Given the description of an element on the screen output the (x, y) to click on. 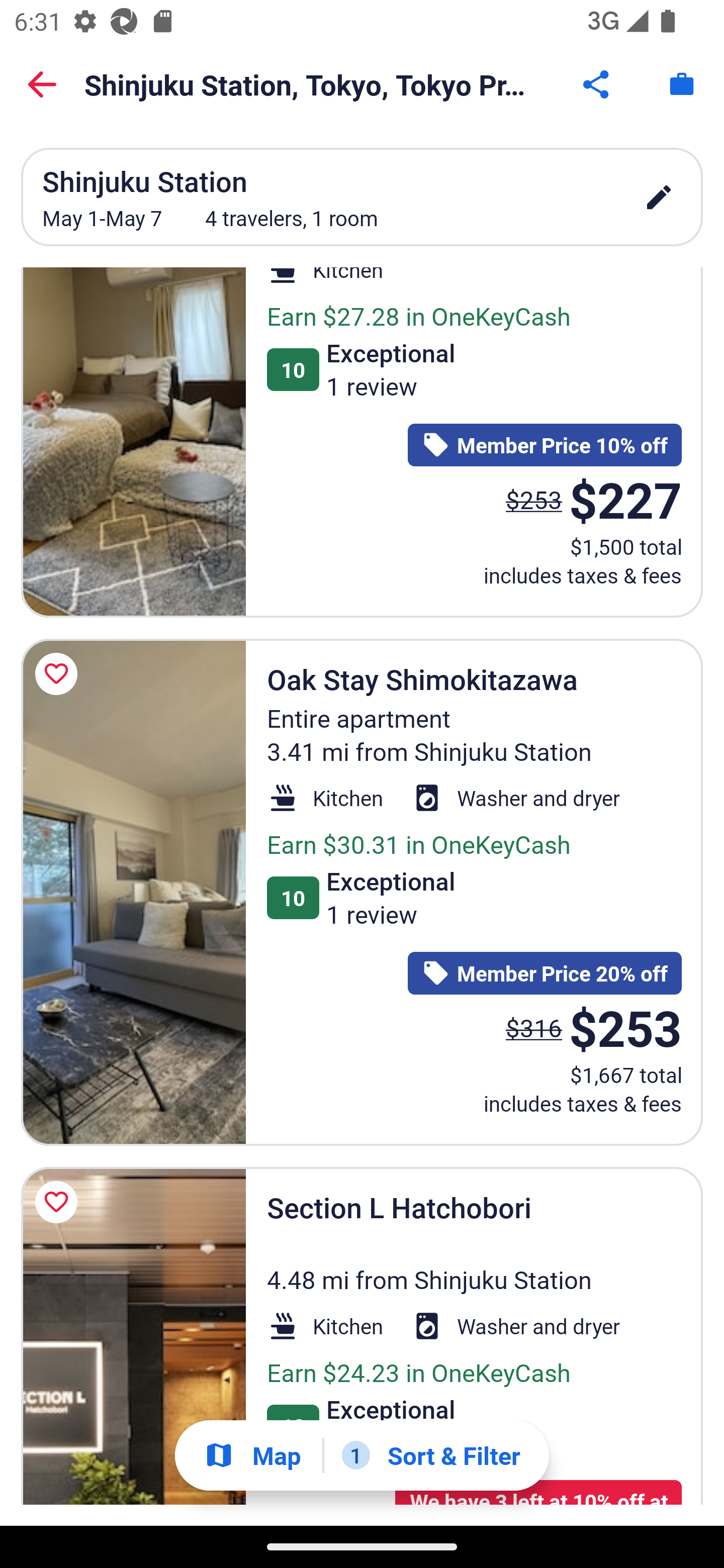
Back (42, 84)
Share Button (597, 84)
Trips. Button (681, 84)
Oak Stay Shibuya 2 (133, 442)
$253 The price was $253 (533, 499)
Save Oak Stay Shimokitazawa  to a trip (59, 673)
Oak Stay Shimokitazawa  (133, 892)
$316 The price was $316 (533, 1027)
Save Section L Hatchobori to a trip (59, 1202)
Section L Hatchobori (133, 1335)
1 Sort & Filter 1 Filter applied. Filters Button (430, 1455)
Show map Map Show map Button (252, 1455)
